Given the description of an element on the screen output the (x, y) to click on. 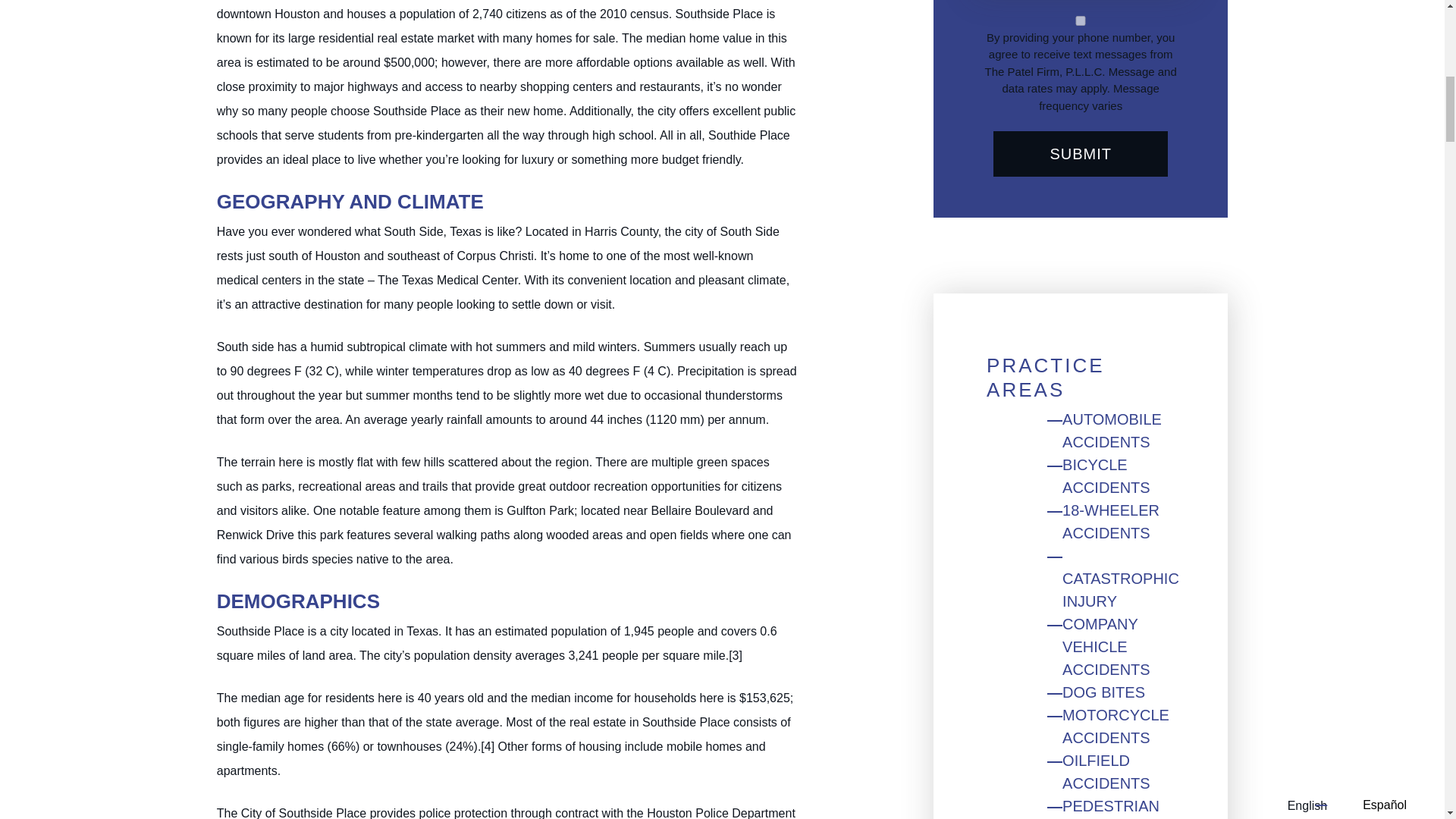
Submit (1080, 153)
Submit (1080, 153)
